Given the description of an element on the screen output the (x, y) to click on. 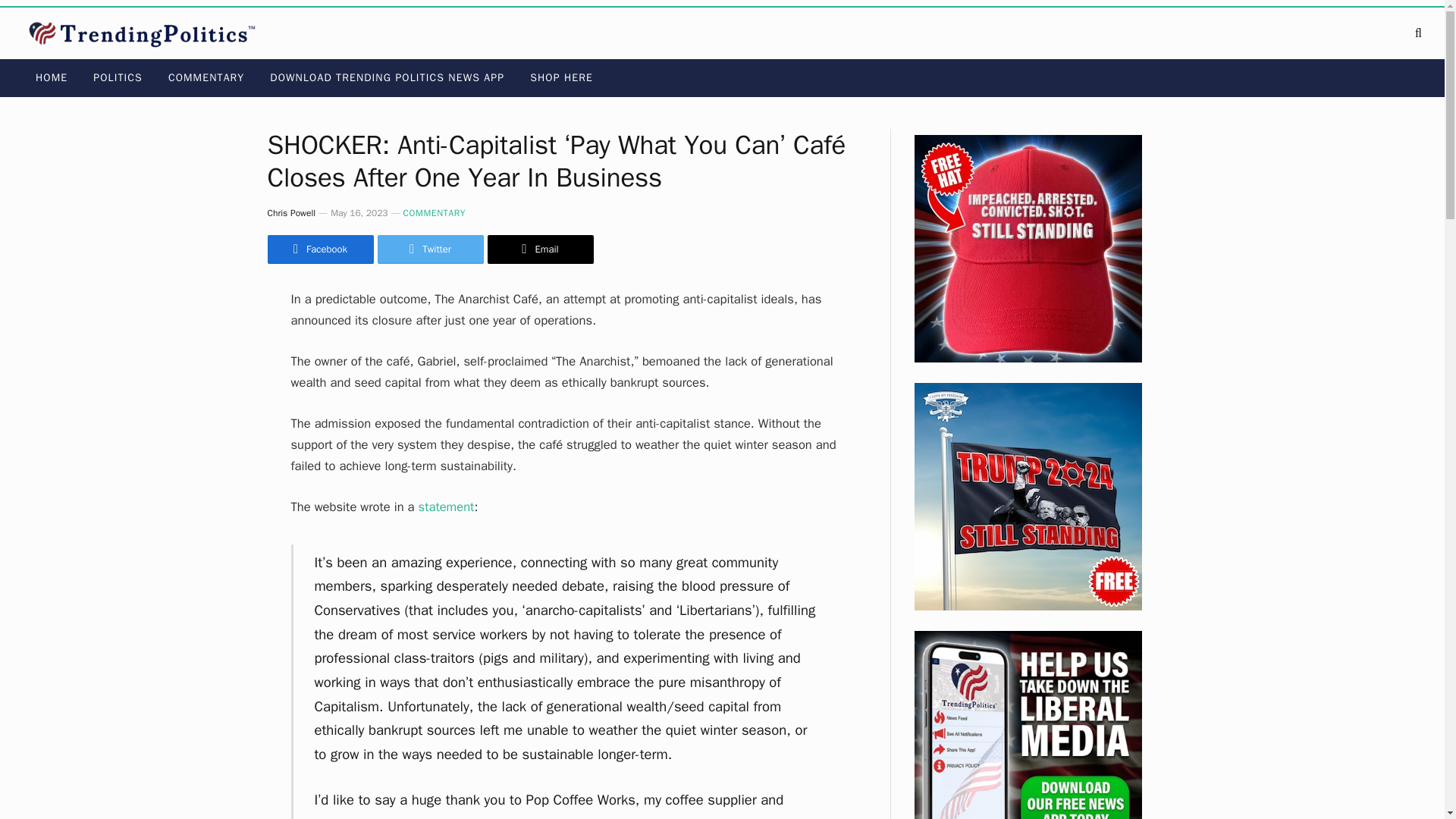
Email (539, 249)
SHOP HERE (560, 77)
Trending Politics Conservative News and Commentary (145, 32)
COMMENTARY (206, 77)
Posts by Chris Powell (290, 213)
POLITICS (117, 77)
Share on Facebook (319, 249)
Share via Email (539, 249)
statement (446, 506)
HOME (51, 77)
COMMENTARY (434, 213)
Twitter (430, 249)
Chris Powell (290, 213)
DOWNLOAD TRENDING POLITICS NEWS APP (386, 77)
Facebook (319, 249)
